Given the description of an element on the screen output the (x, y) to click on. 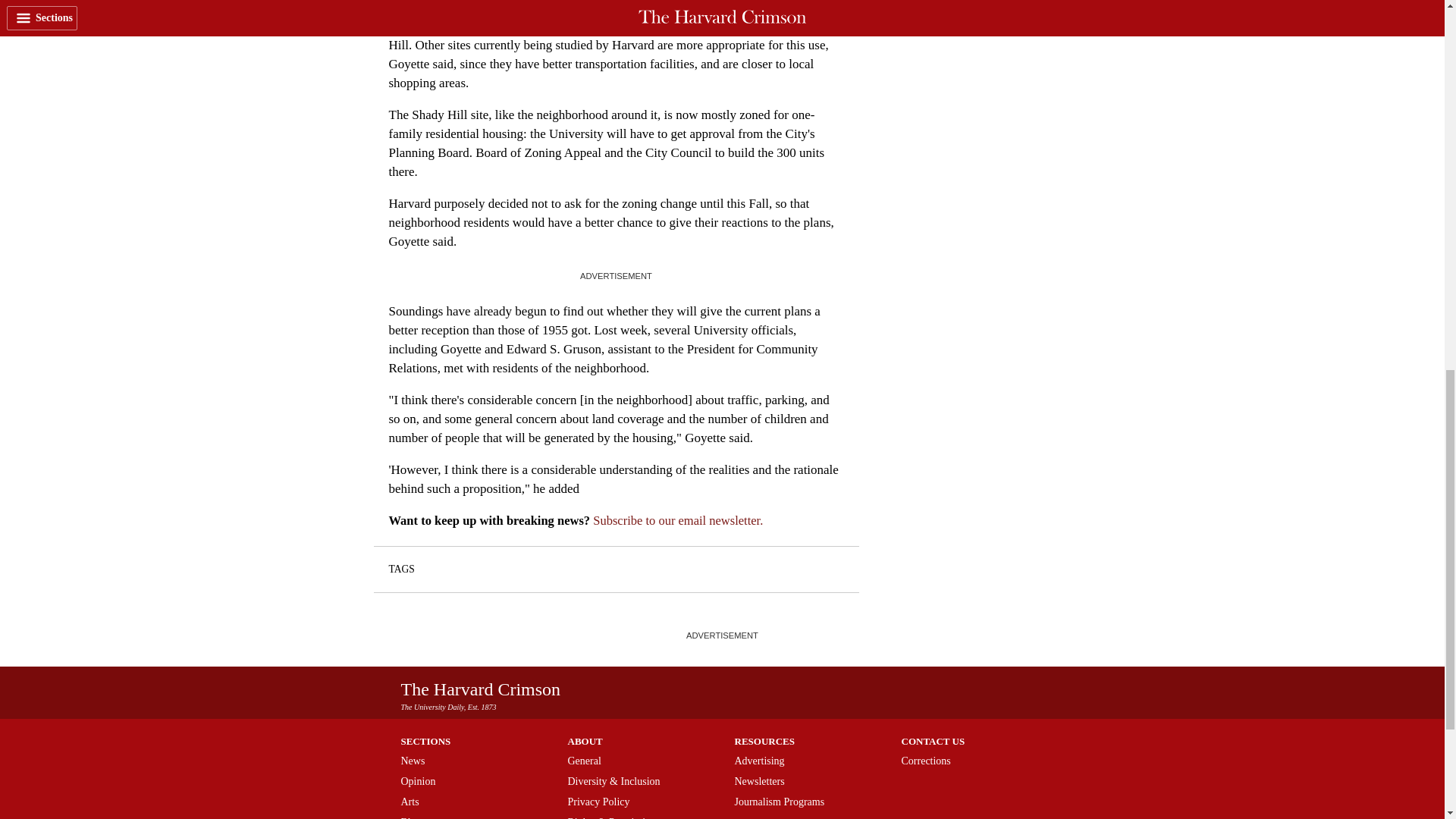
The Harvard Crimson (480, 689)
Opinion (417, 781)
News (412, 760)
Subscribe to our email newsletter. (677, 520)
